Given the description of an element on the screen output the (x, y) to click on. 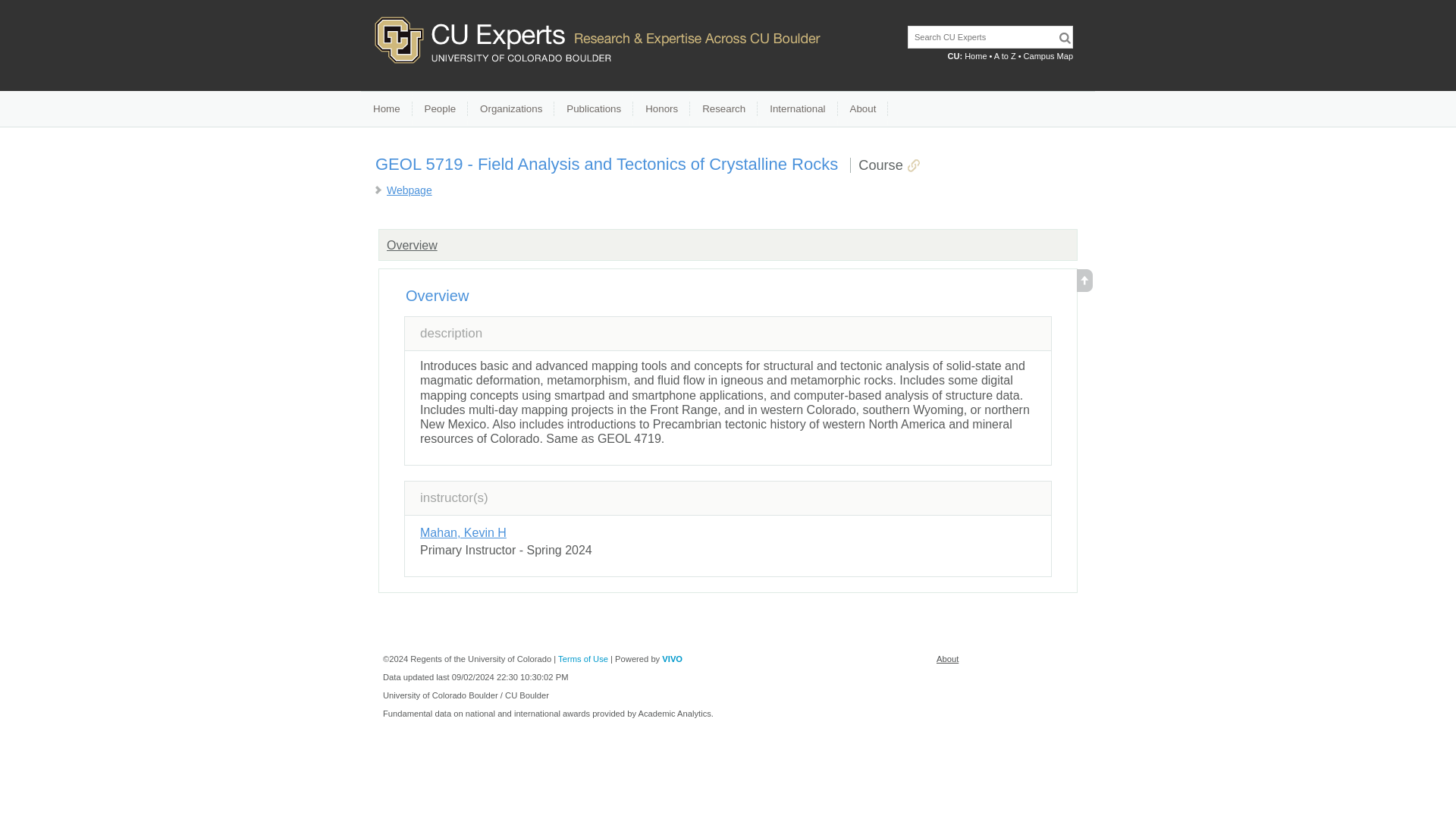
menu item (386, 108)
scroll to property group menus (1085, 287)
Search (1065, 37)
Organizations (510, 108)
Home (975, 55)
menu item (723, 108)
menu item (440, 108)
VIVO (672, 658)
Overview (412, 245)
Webpage (409, 190)
